Given the description of an element on the screen output the (x, y) to click on. 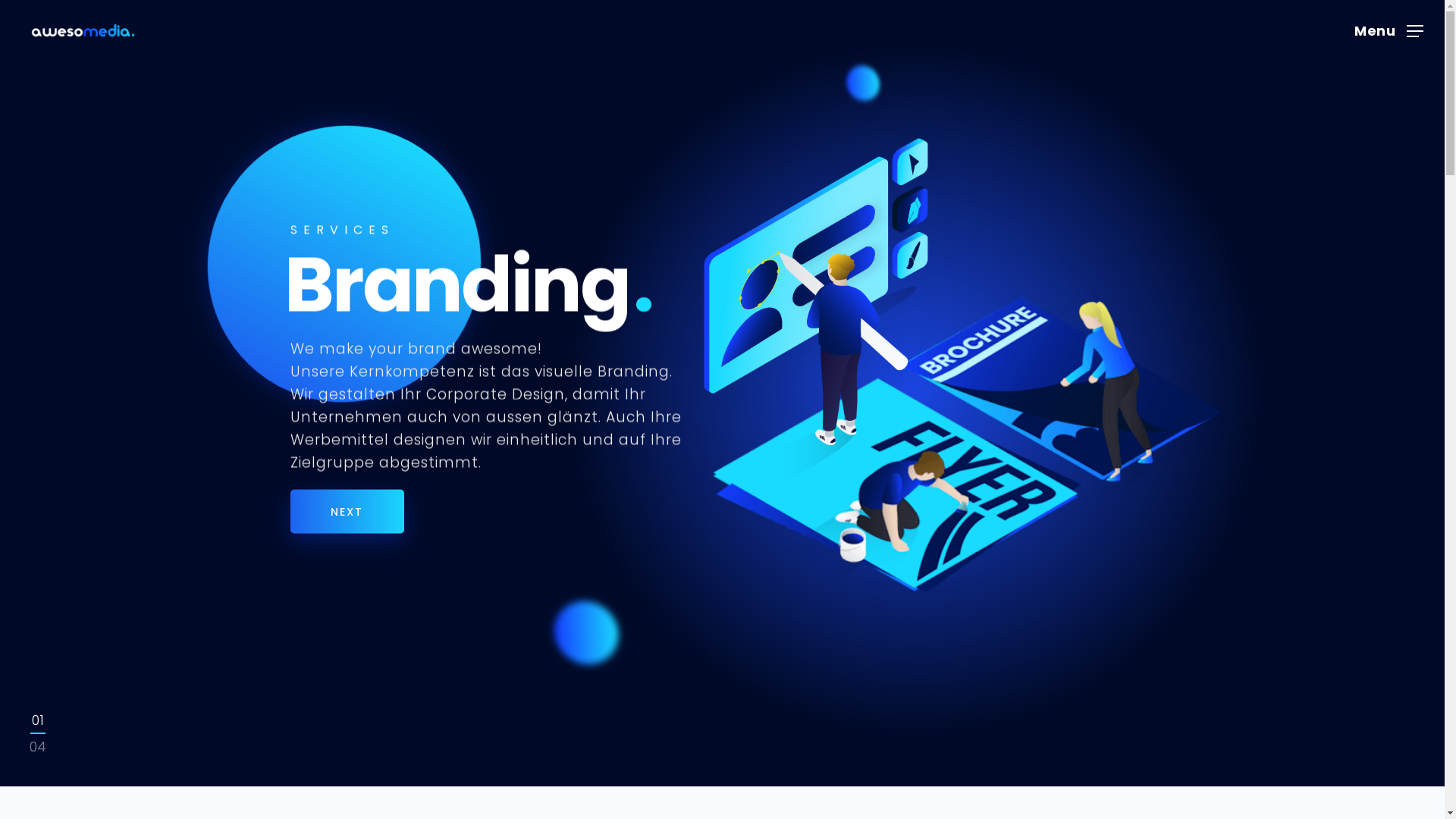
youtube Element type: text (722, 771)
linkedin Element type: text (684, 771)
Menu Element type: text (1388, 30)
instagram Element type: text (760, 771)
